Given the description of an element on the screen output the (x, y) to click on. 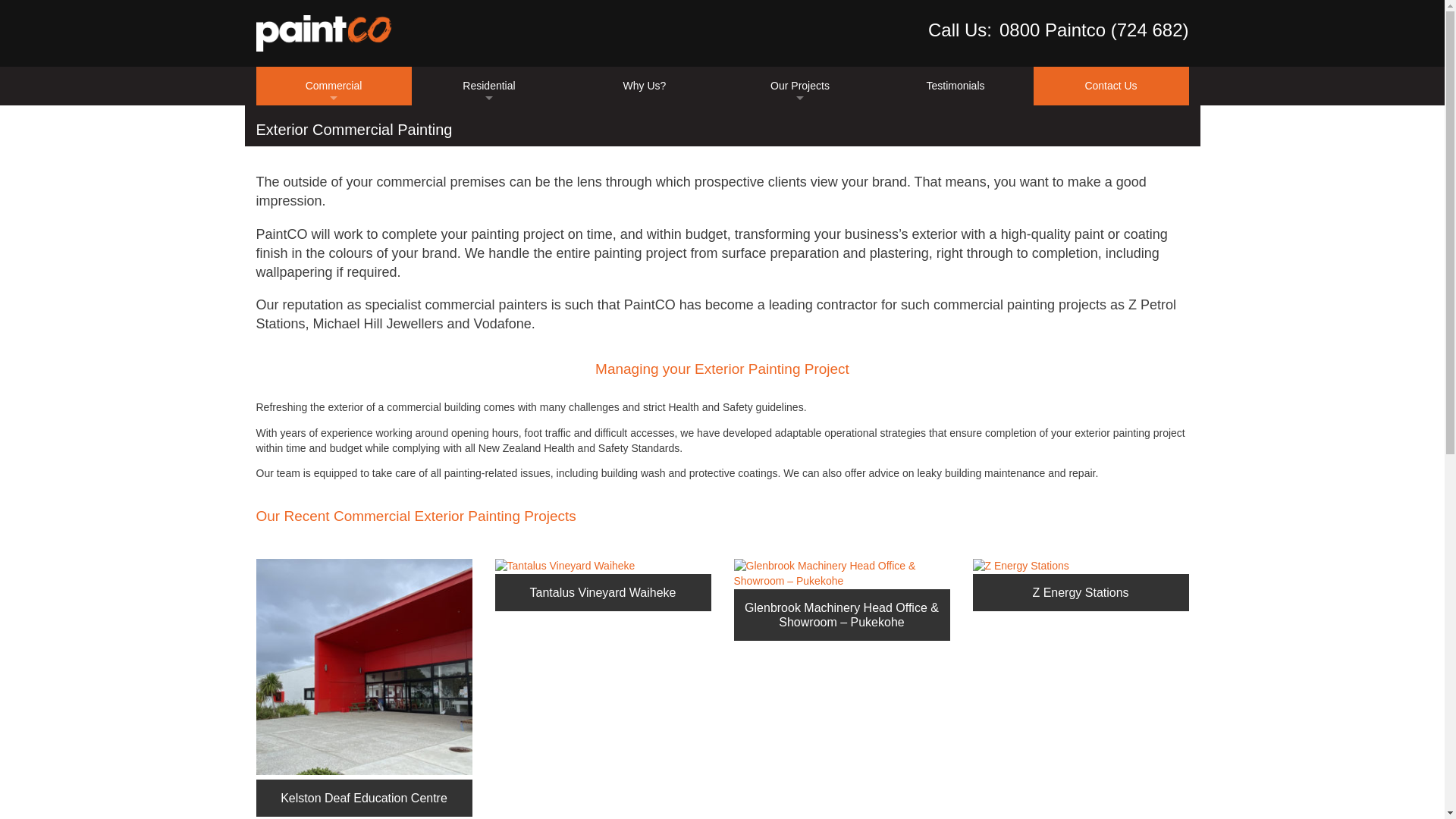
Kelston Deaf Education Centre (363, 666)
Tantalus Vineyard Waiheke (602, 584)
Why Us? (644, 86)
Tantalus Vineyard Waiheke (564, 566)
Contact Us (1110, 86)
Z Energy Stations (1020, 566)
Residential (488, 86)
PaintCO (323, 33)
Z Energy Stations (1080, 584)
Testimonials (955, 86)
Commercial (334, 86)
Our Projects (799, 86)
